Given the description of an element on the screen output the (x, y) to click on. 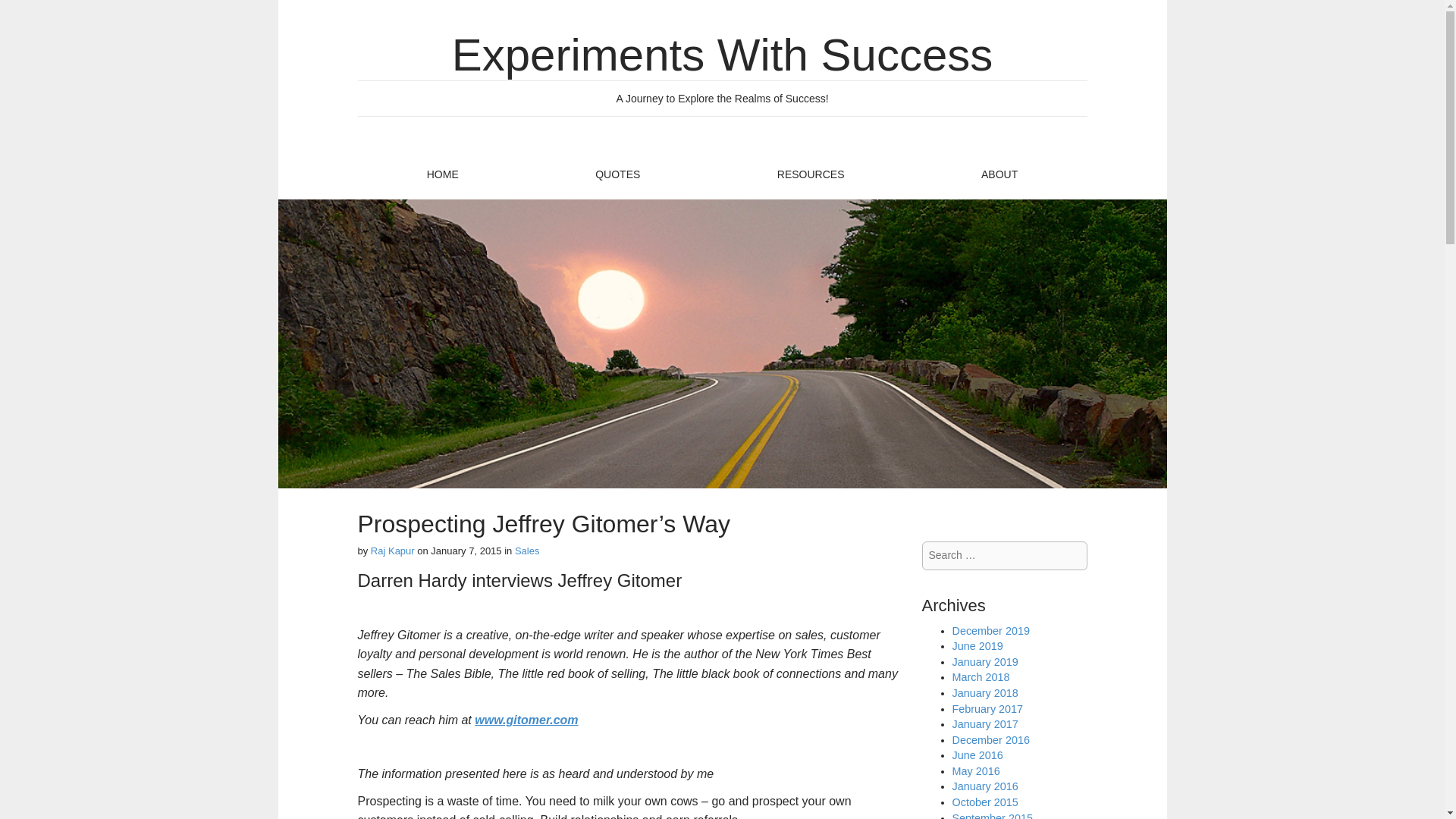
March 2018 (981, 676)
December 2016 (990, 739)
January 2017 (984, 724)
October 2015 (984, 802)
Posts by Raj Kapur (392, 550)
June 2019 (977, 645)
January 2019 (984, 662)
Sales (527, 550)
May 2016 (976, 770)
Experiments With Success (721, 54)
June 2016 (977, 755)
January 2018 (984, 693)
HOME (441, 174)
December 2019 (990, 630)
